Given the description of an element on the screen output the (x, y) to click on. 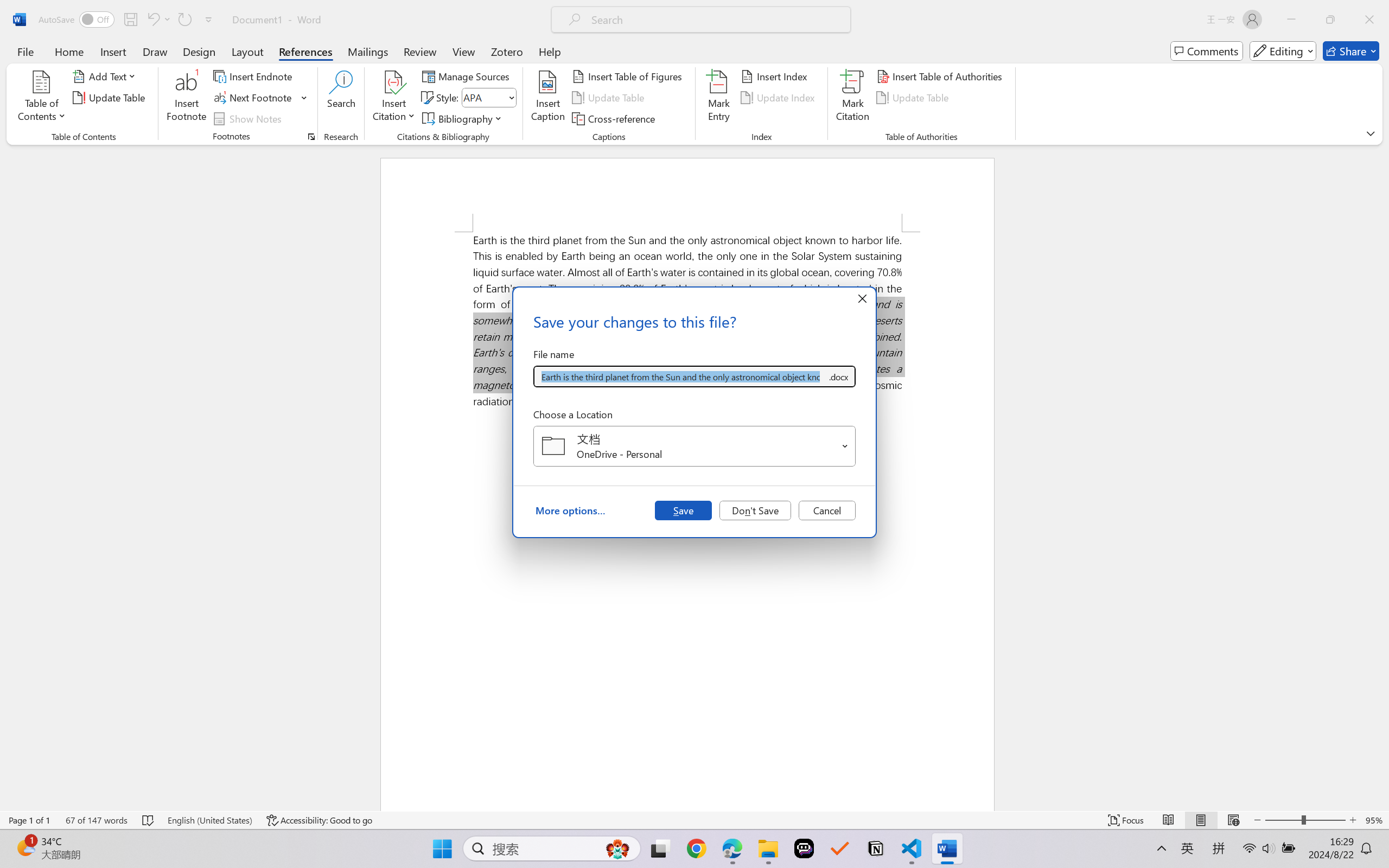
Insert Table of Authorities... (941, 75)
Class: NetUIScrollBar (1382, 477)
Insert Index... (775, 75)
Repeat Doc Close (184, 19)
Undo Italic (158, 19)
Insert Footnote (186, 97)
